Given the description of an element on the screen output the (x, y) to click on. 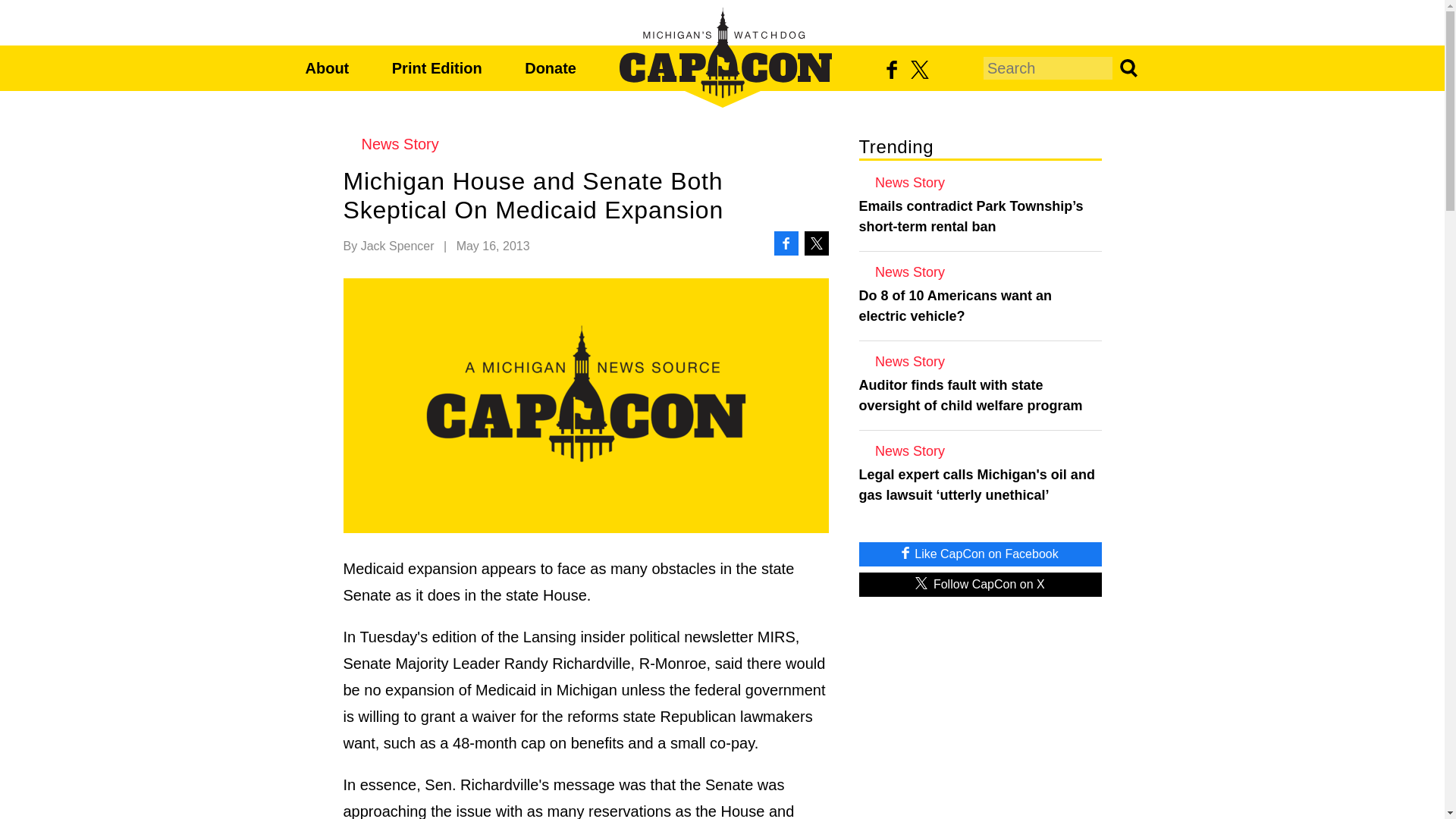
Print Edition (436, 67)
News Story (979, 182)
About (326, 67)
News Story (585, 143)
Search (1127, 67)
News Story (979, 361)
News Story (979, 272)
Jack Spencer (397, 245)
News Story (979, 450)
Donate (550, 67)
Do 8 of 10 Americans want an electric vehicle? (979, 305)
Like CapCon on Facebook (979, 554)
Follow CapCon on X (979, 584)
